Given the description of an element on the screen output the (x, y) to click on. 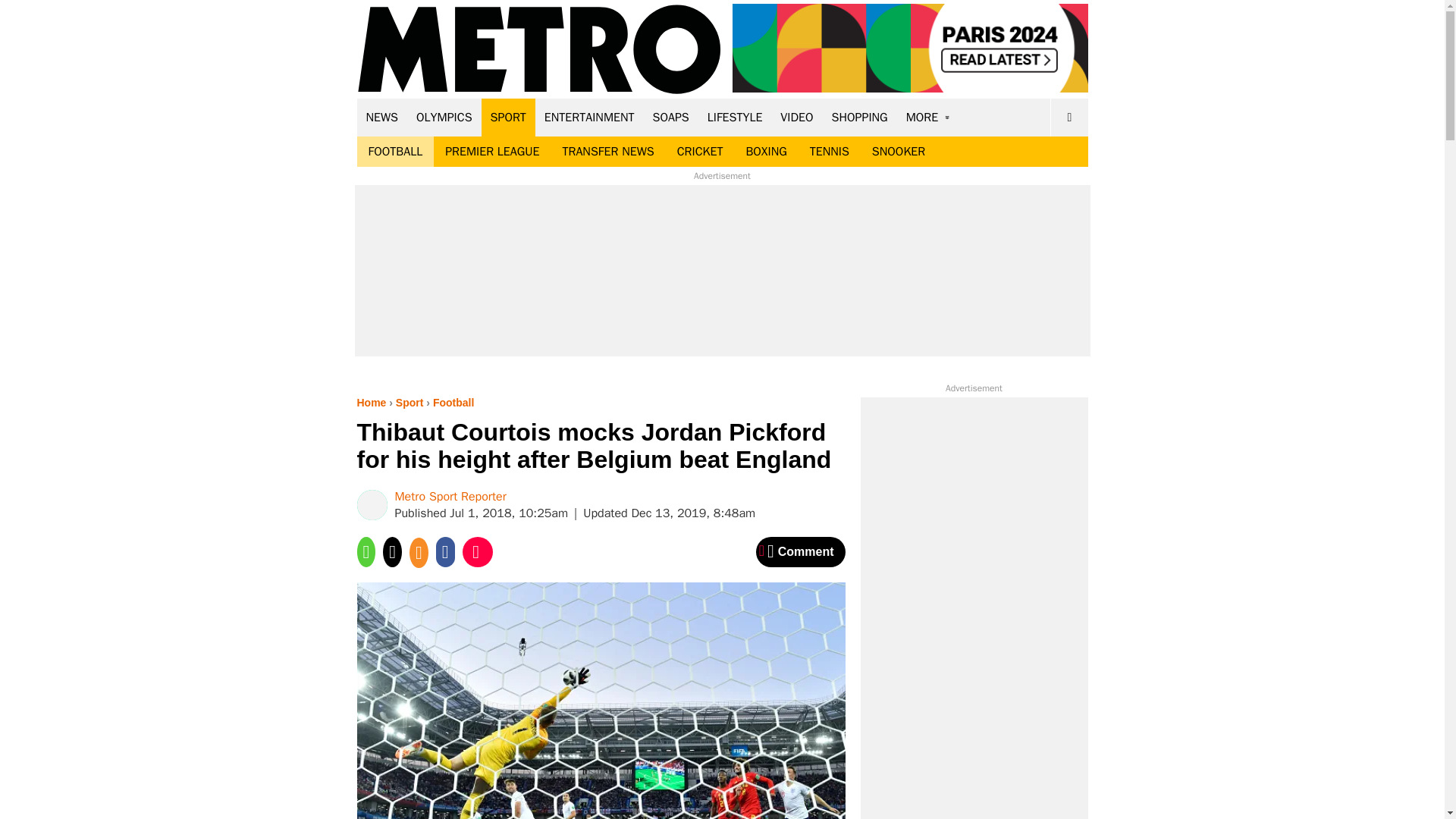
NEWS (381, 117)
SPORT (508, 117)
OLYMPICS (444, 117)
TENNIS (828, 151)
LIFESTYLE (734, 117)
TRANSFER NEWS (607, 151)
BOXING (765, 151)
PREMIER LEAGUE (491, 151)
SNOOKER (898, 151)
ENTERTAINMENT (589, 117)
